Given the description of an element on the screen output the (x, y) to click on. 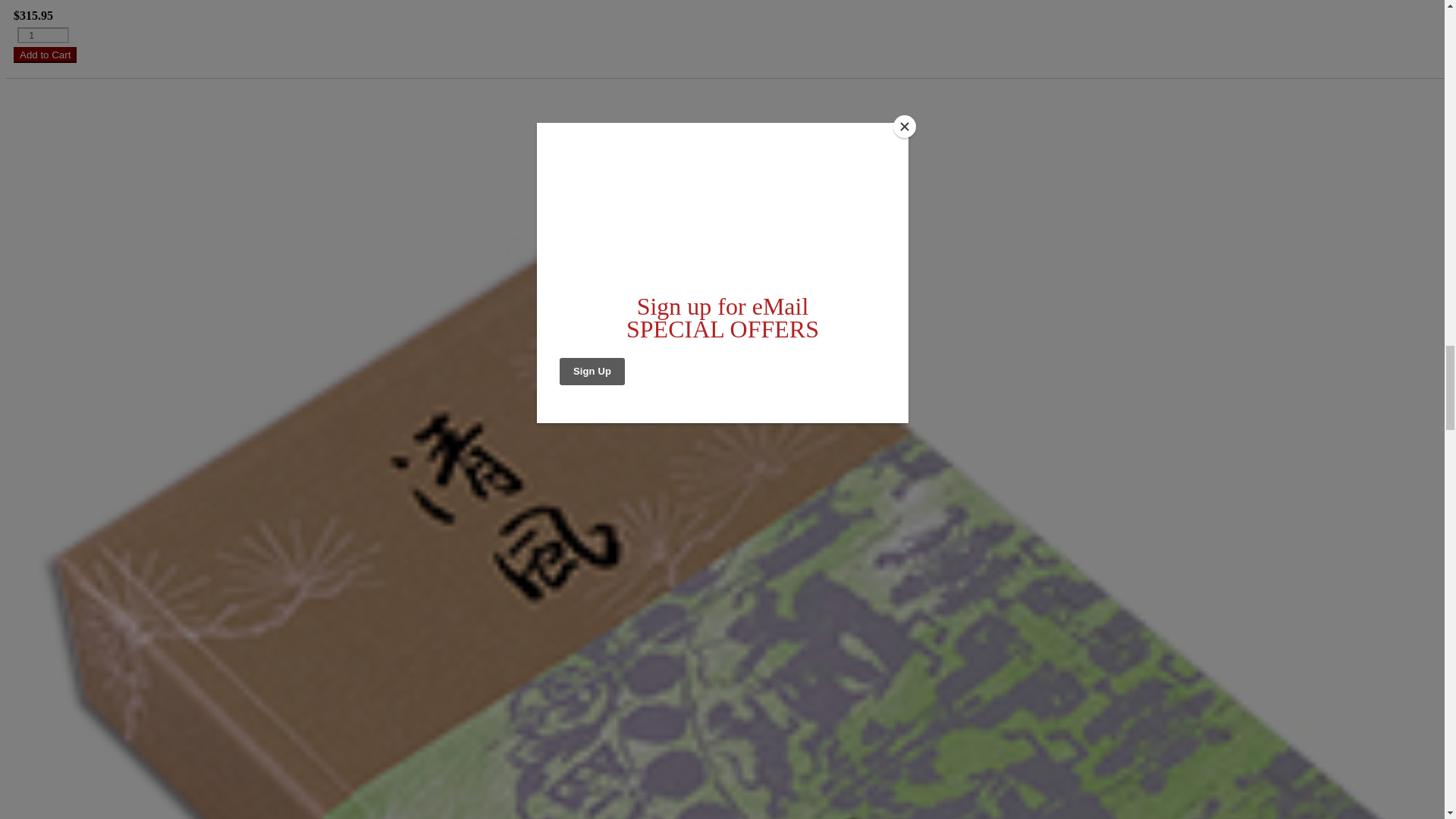
1 (42, 35)
Add to Cart (45, 54)
